Given the description of an element on the screen output the (x, y) to click on. 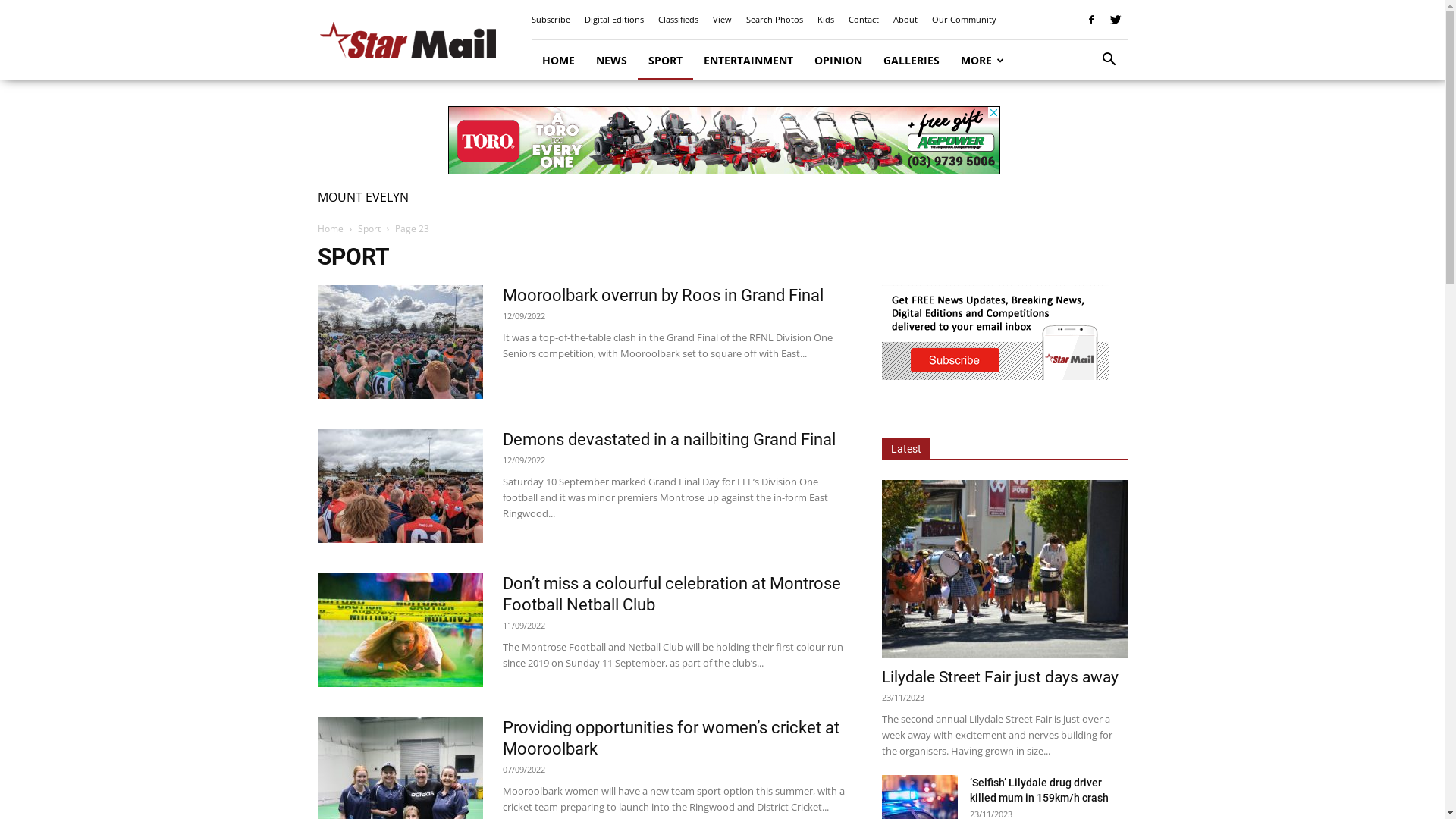
MORE Element type: text (981, 60)
HOME Element type: text (557, 60)
Sport Element type: text (368, 228)
About Element type: text (905, 19)
NEWS Element type: text (611, 60)
View Element type: text (721, 19)
SPORT Element type: text (664, 60)
Mooroolbark overrun by Roos in Grand Final Element type: hover (399, 341)
Search Element type: text (1085, 122)
Lilydale Street Fair just days away Element type: text (999, 677)
Demons devastated in a nailbiting Grand Final Element type: text (668, 438)
ENTERTAINMENT Element type: text (748, 60)
Search Photos Element type: text (774, 19)
Twitter Element type: hover (1115, 19)
3rd party ad content Element type: hover (723, 140)
Our Community Element type: text (963, 19)
Mooroolbark overrun by Roos in Grand Final Element type: text (662, 294)
Home Element type: text (329, 228)
OPINION Element type: text (837, 60)
Classifieds Element type: text (678, 19)
Digital Editions Element type: text (613, 19)
GALLERIES Element type: text (910, 60)
Lilydale Street Fair just days away Element type: hover (1003, 569)
Demons devastated in a nailbiting Grand Final Element type: hover (399, 485)
Subscribe Element type: text (549, 19)
Facebook Element type: hover (1090, 19)
Kids Element type: text (825, 19)
Contact Element type: text (862, 19)
